Given the description of an element on the screen output the (x, y) to click on. 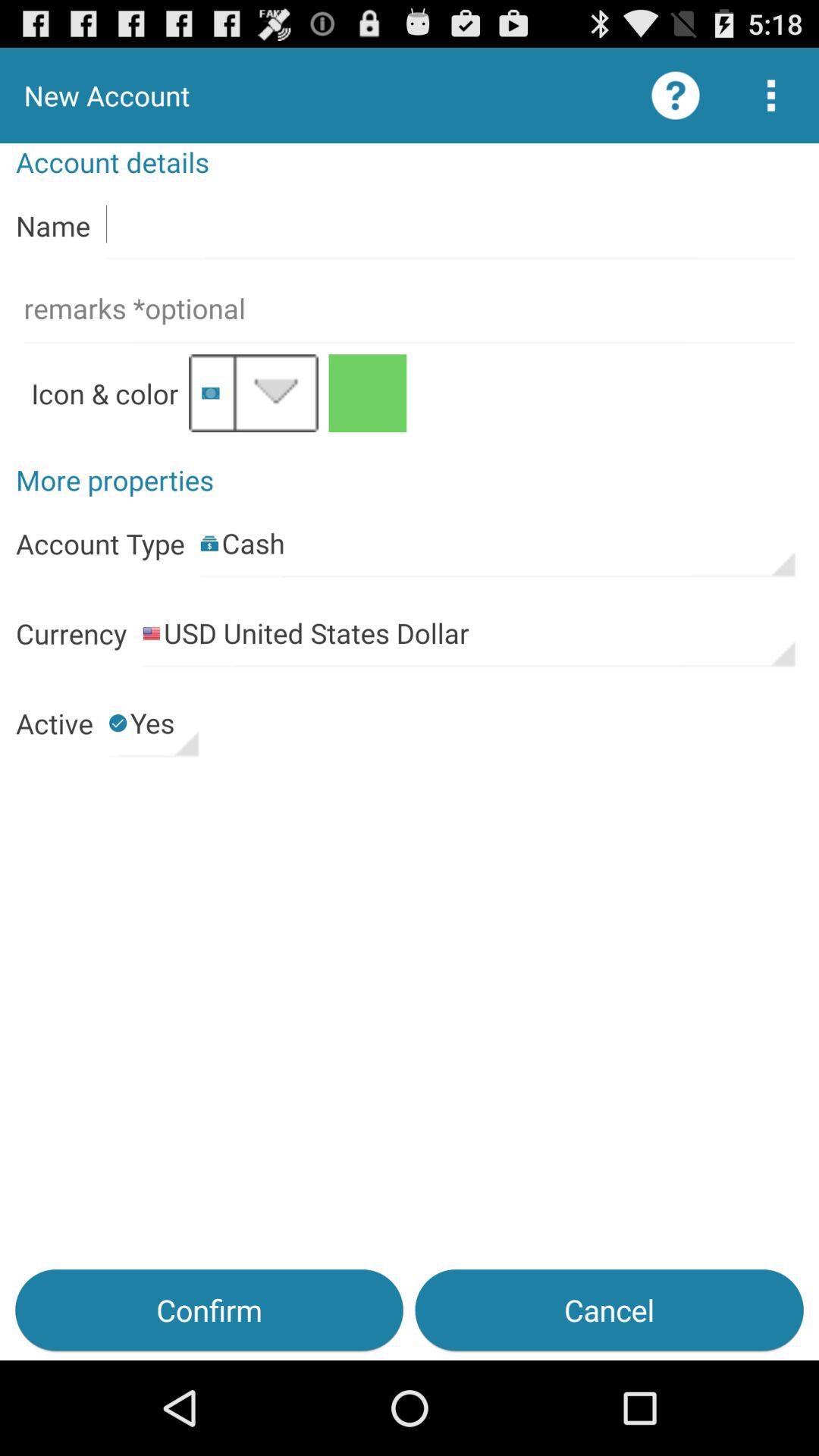
select the icon style (253, 393)
